Given the description of an element on the screen output the (x, y) to click on. 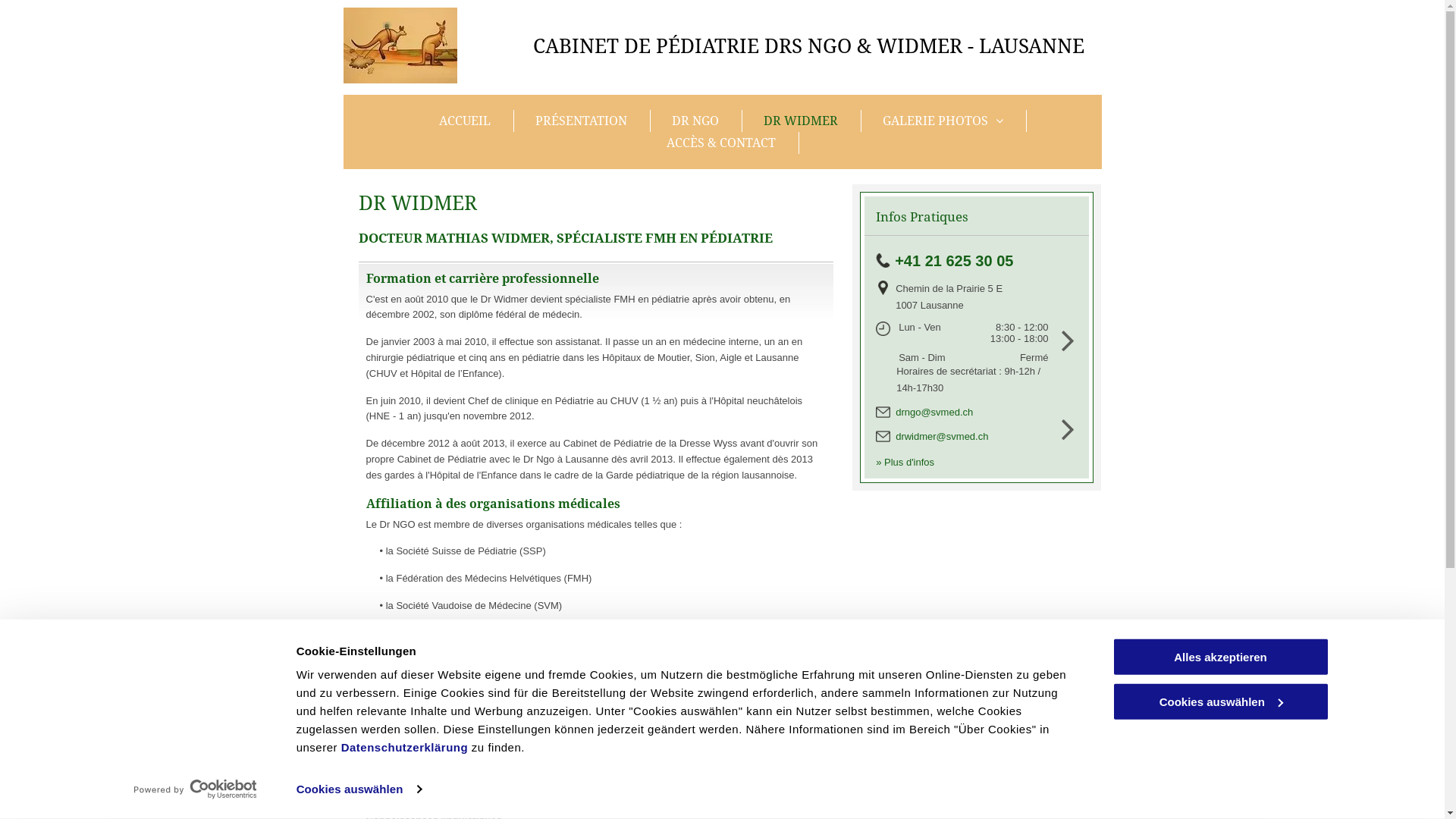
CABINET DE Element type: text (590, 45)
DR WIDMER Element type: text (801, 120)
Alles akzeptieren Element type: text (1219, 656)
DR NGO Element type: text (696, 120)
ACCUEIL Element type: text (465, 120)
GALERIE PHOTOS Element type: text (943, 120)
+41 21 625 30 05 Element type: text (953, 259)
drwidmer@svmed.ch Element type: text (941, 436)
drngo@svmed.ch Element type: text (933, 411)
